Given the description of an element on the screen output the (x, y) to click on. 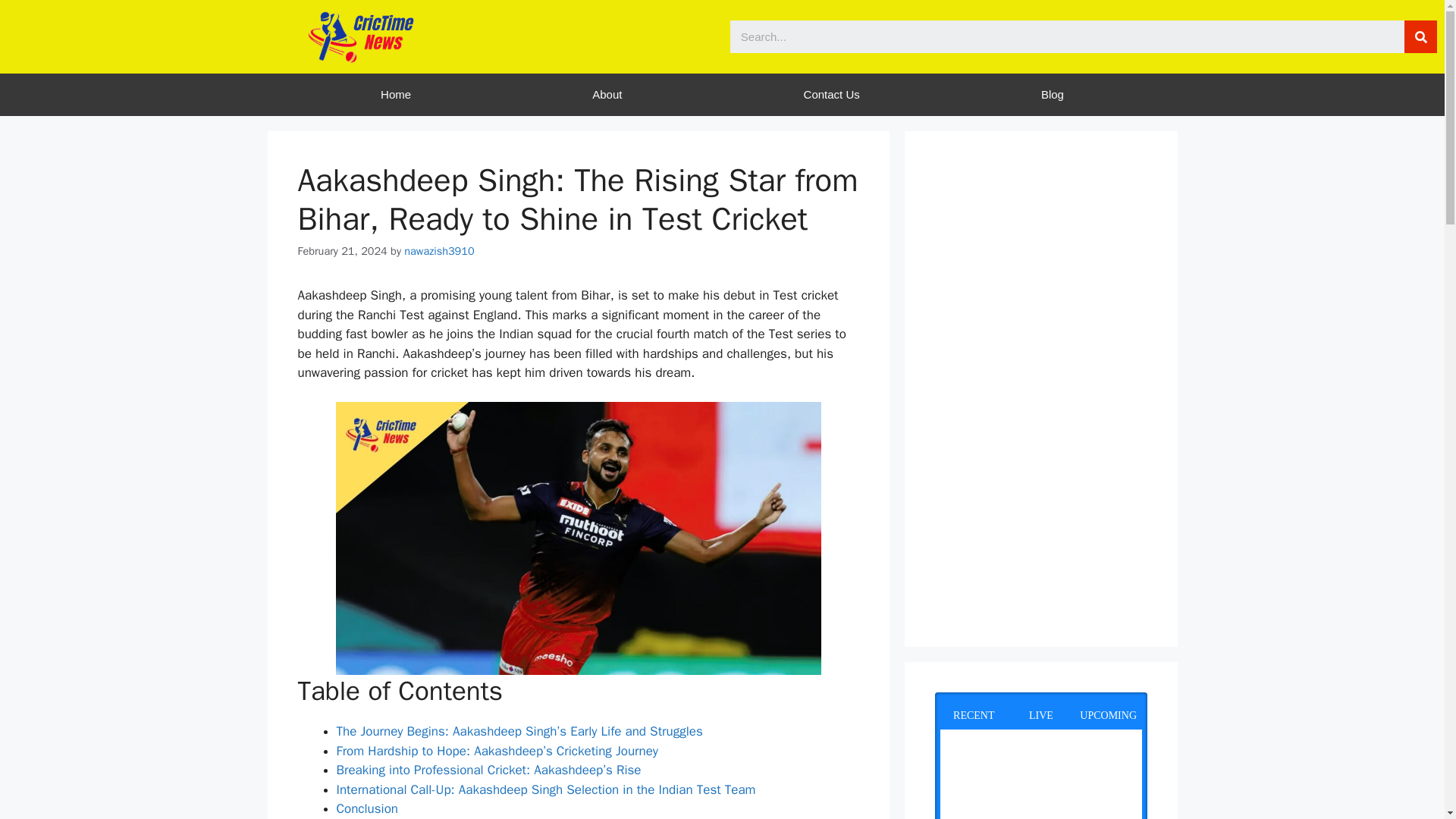
Advertisement (1040, 388)
Contact Us (831, 94)
Search (1421, 36)
nawazish3910 (439, 250)
Search (1067, 36)
View all posts by nawazish3910 (439, 250)
Home (394, 94)
Blog (1052, 94)
Conclusion (366, 808)
About (607, 94)
